Given the description of an element on the screen output the (x, y) to click on. 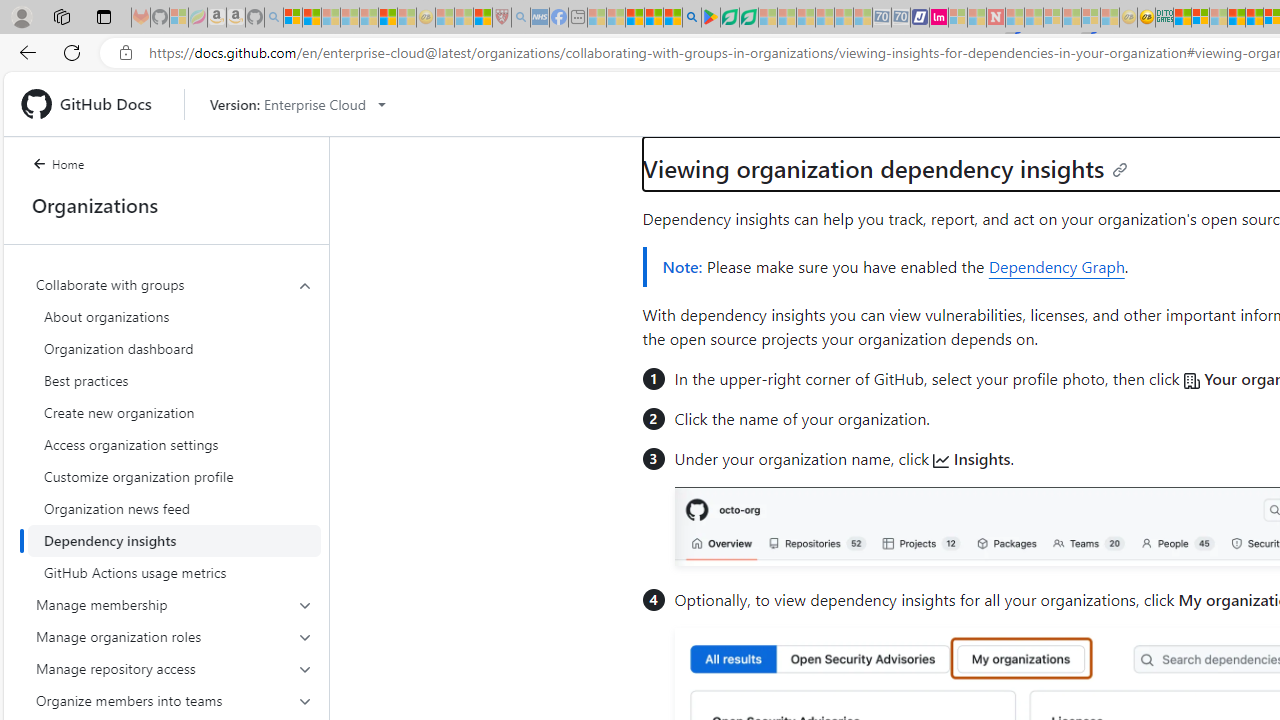
Kinda Frugal - MSN (1254, 17)
Dependency insights (174, 540)
Customize organization profile (174, 476)
Dependency insights (174, 540)
Manage repository access (174, 668)
